Given the description of an element on the screen output the (x, y) to click on. 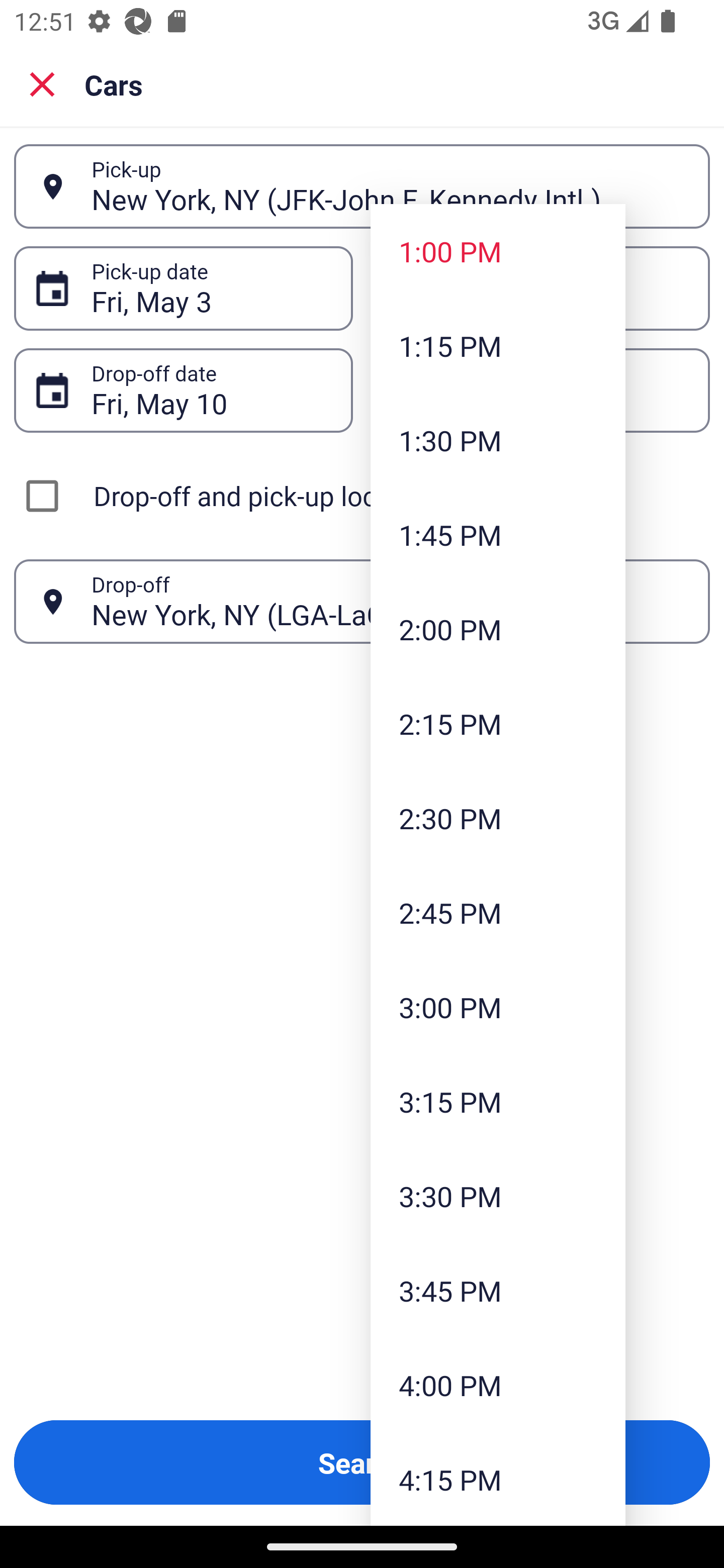
1:00 PM (497, 250)
1:15 PM (497, 345)
1:30 PM (497, 440)
1:45 PM (497, 534)
2:00 PM (497, 628)
2:15 PM (497, 723)
2:30 PM (497, 818)
2:45 PM (497, 912)
3:00 PM (497, 1006)
3:15 PM (497, 1101)
3:30 PM (497, 1196)
3:45 PM (497, 1290)
4:00 PM (497, 1384)
4:15 PM (497, 1478)
